Given the description of an element on the screen output the (x, y) to click on. 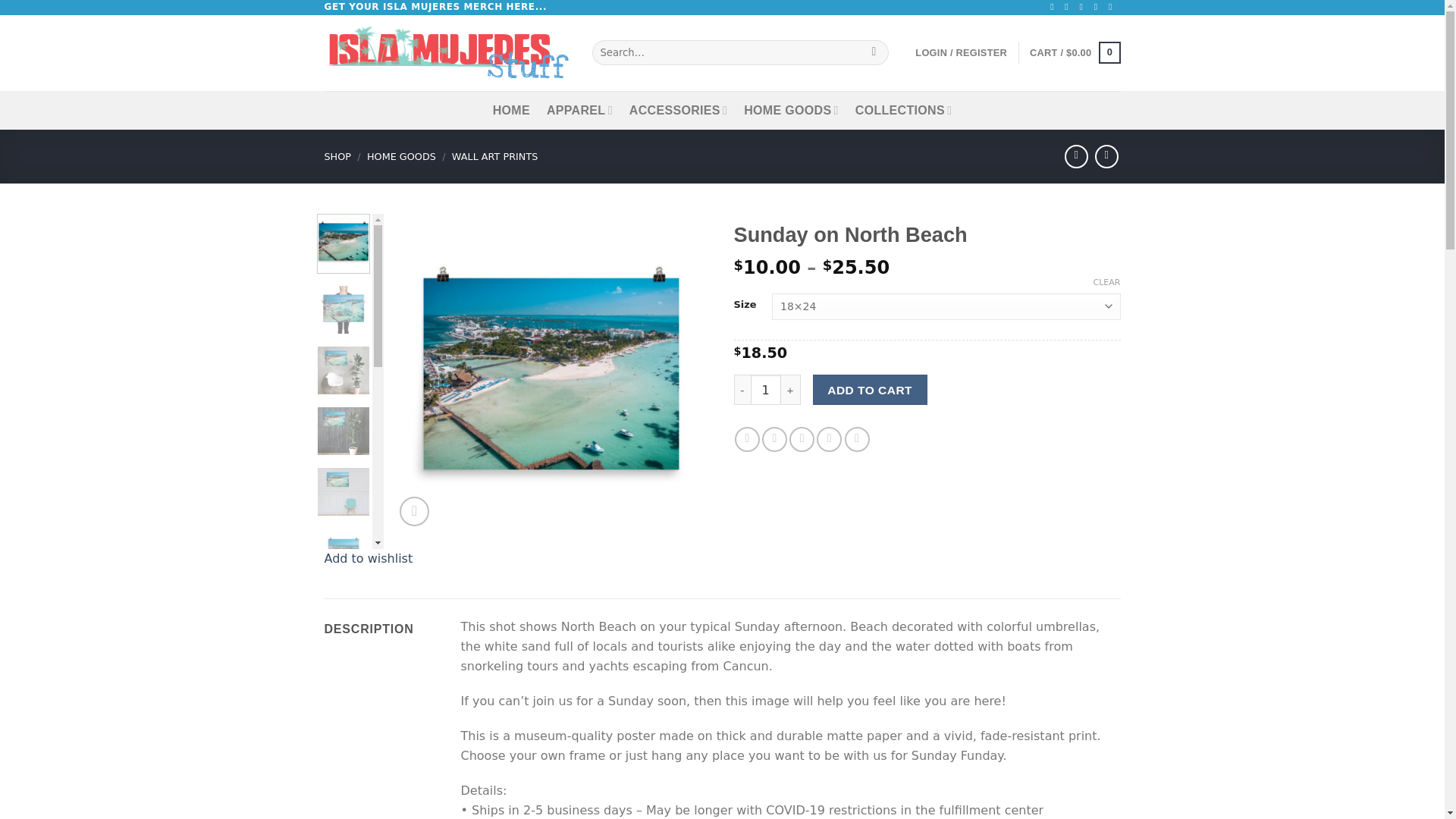
ACCESSORIES (677, 109)
HOME GOODS (791, 109)
HOME (511, 109)
Login (961, 52)
Isla Mujeres Stuff (446, 52)
Zoom (413, 511)
Cart (1074, 52)
APPAREL (579, 109)
Search (873, 53)
mockup-6cc93565.jpg (551, 373)
1 (765, 389)
SHOP (338, 156)
WALL ART PRINTS (494, 156)
COLLECTIONS (904, 109)
HOME GOODS (400, 156)
